Given the description of an element on the screen output the (x, y) to click on. 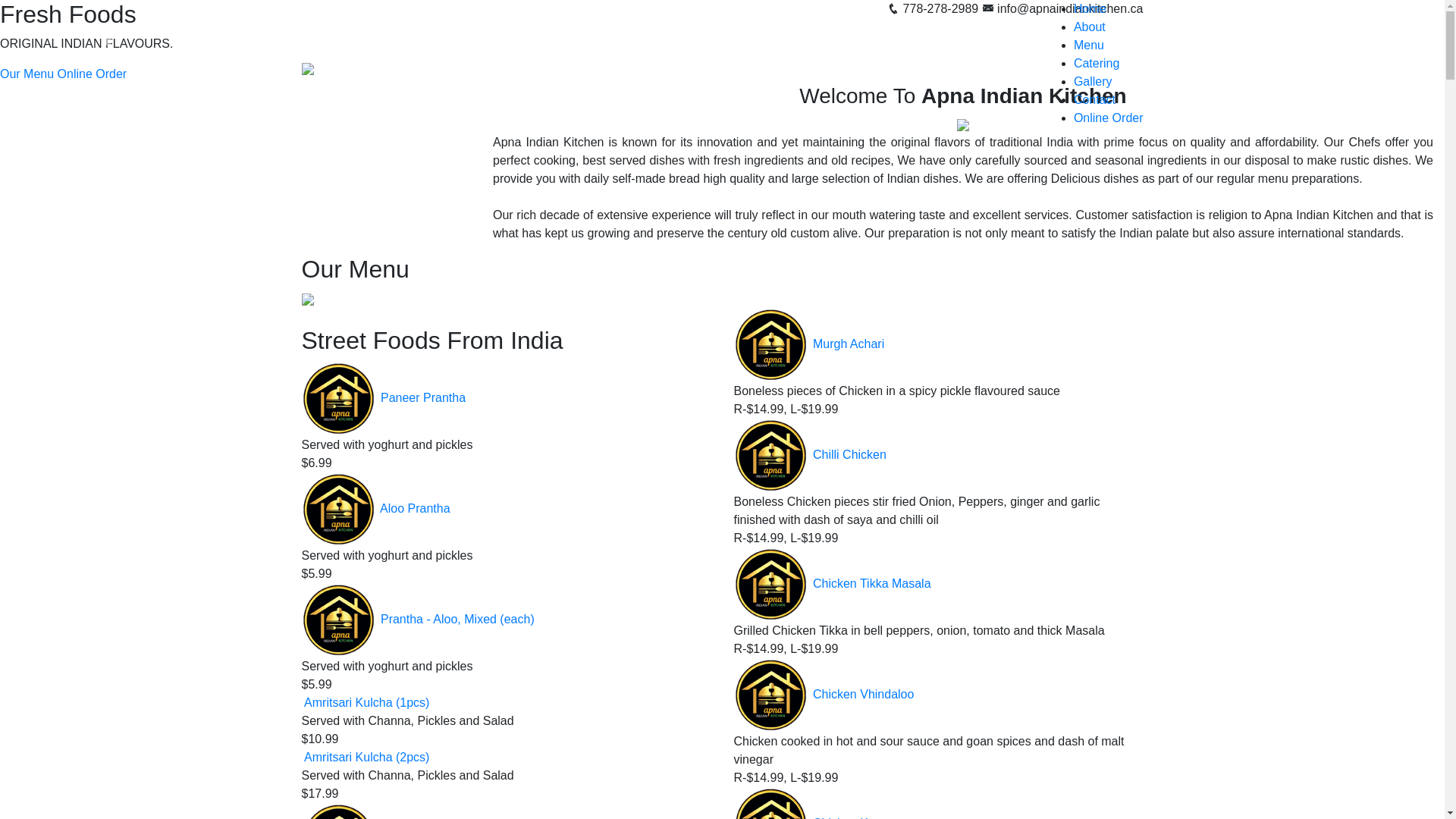
Home Element type: text (1089, 8)
About Element type: text (1089, 26)
Gallery Element type: text (1092, 81)
Next Element type: text (1335, 41)
Online Order Element type: text (1108, 117)
Paneer Prantha Element type: text (422, 397)
Online Order Element type: text (92, 73)
Menu Element type: text (1088, 44)
Catering Element type: text (1096, 62)
Chicken Tikka Masala Element type: text (871, 583)
Prantha - Aloo, Mixed (each) Element type: text (457, 618)
Previous Element type: text (108, 41)
Amritsari Kulcha (1pcs) Element type: text (366, 702)
Our Menu Element type: text (26, 73)
Contact Element type: text (1094, 99)
Chicken Vhindaloo Element type: text (862, 694)
Murgh Achari Element type: text (848, 344)
Aloo Prantha Element type: text (414, 508)
Chilli Chicken Element type: text (849, 454)
Amritsari Kulcha (2pcs) Element type: text (366, 756)
